Given the description of an element on the screen output the (x, y) to click on. 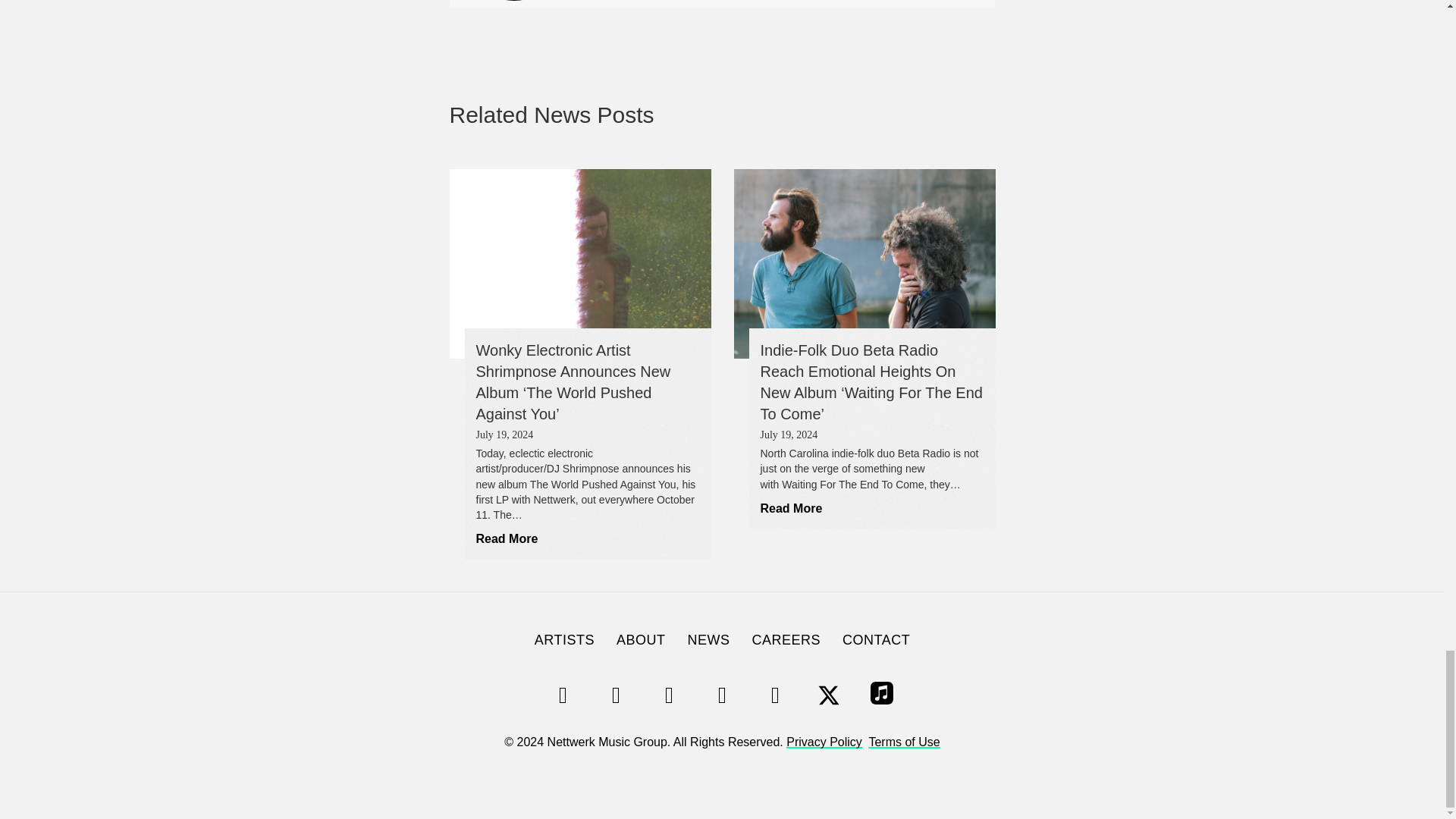
CONTACT (875, 639)
Privacy Policy (823, 741)
ABOUT (641, 639)
TikTok (668, 695)
Apple Music (881, 695)
Instagram (615, 695)
Terms of Use (903, 741)
Facebook (774, 695)
ARTISTS (564, 639)
CAREERS (786, 639)
Spotify (562, 695)
NEWS (708, 639)
YouTube (721, 695)
